Given the description of an element on the screen output the (x, y) to click on. 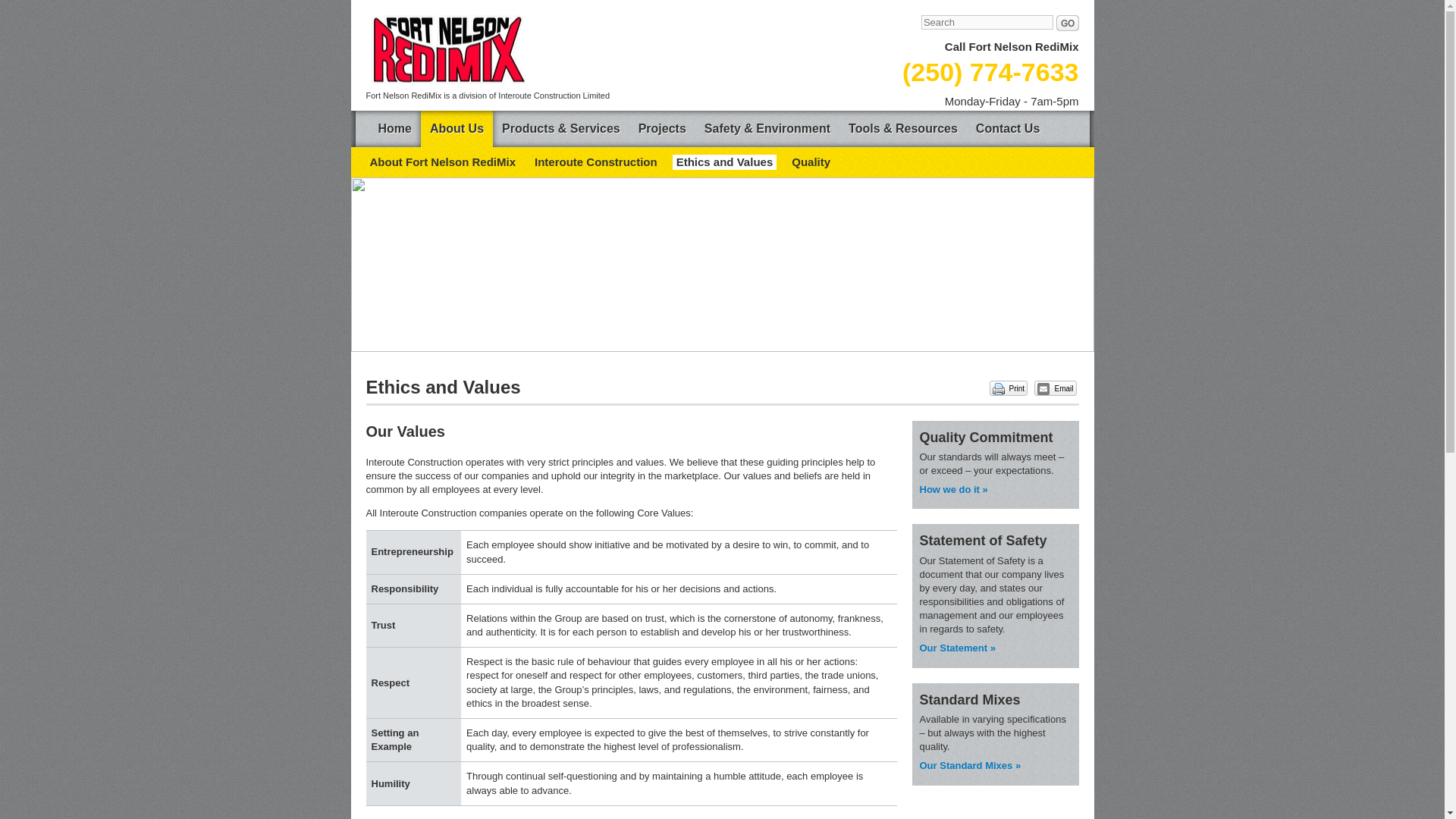
About Us (456, 128)
Quality (810, 161)
Fort Nelson RediMix (444, 49)
Interoute Construction (596, 161)
Contact Us (1007, 128)
Ready-Mix Concrete (969, 765)
About Fort Nelson RediMix (442, 161)
Fort Nelson RediMix (444, 49)
Projects (661, 128)
Ethics and Values (724, 161)
Home (394, 128)
Quality (952, 489)
